Given the description of an element on the screen output the (x, y) to click on. 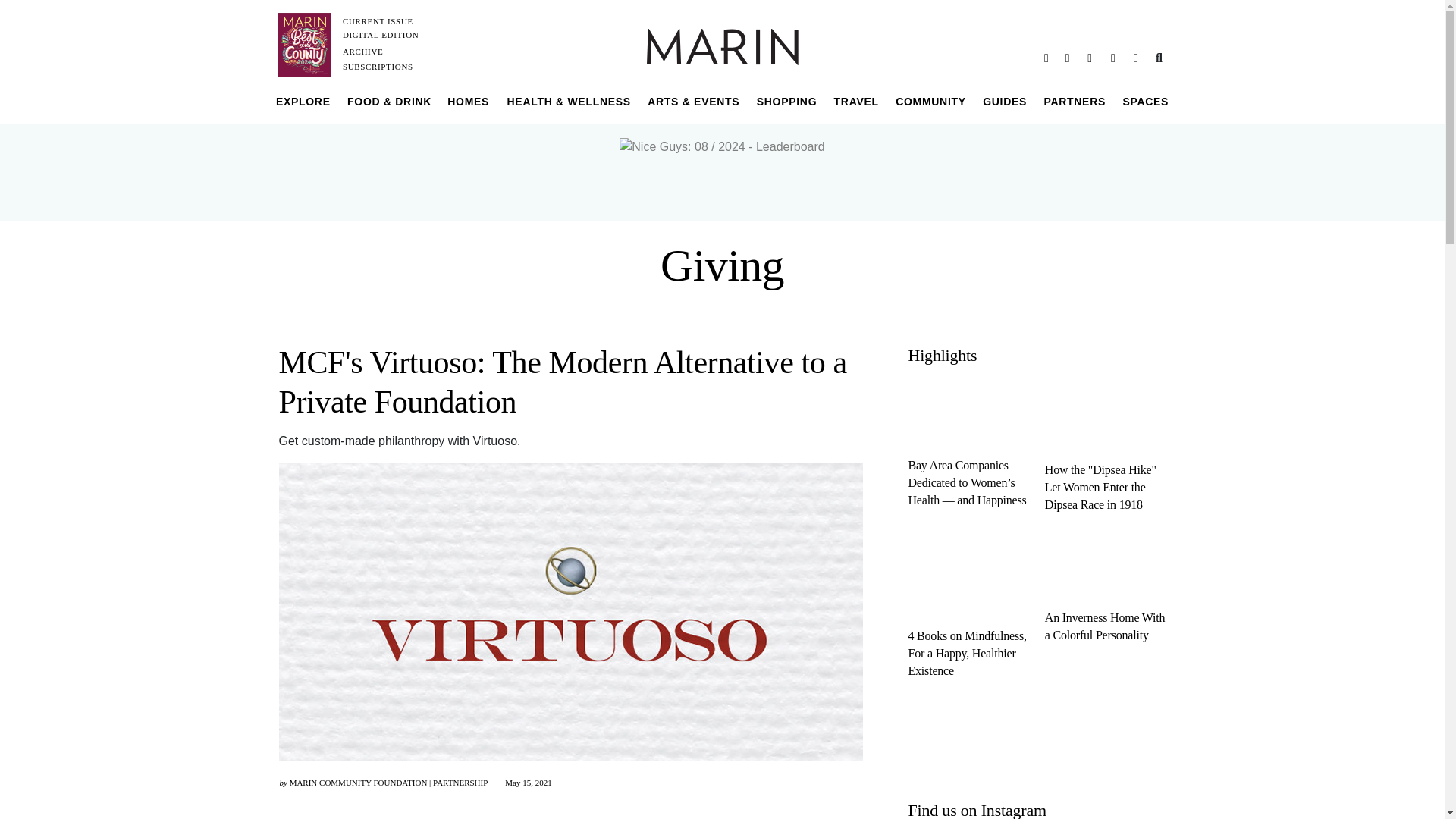
CURRENT ISSUE (377, 20)
ARCHIVE (362, 51)
HOMES (468, 102)
DIGITAL EDITION (380, 34)
SUBSCRIPTIONS (377, 66)
EXPLORE (303, 102)
